Given the description of an element on the screen output the (x, y) to click on. 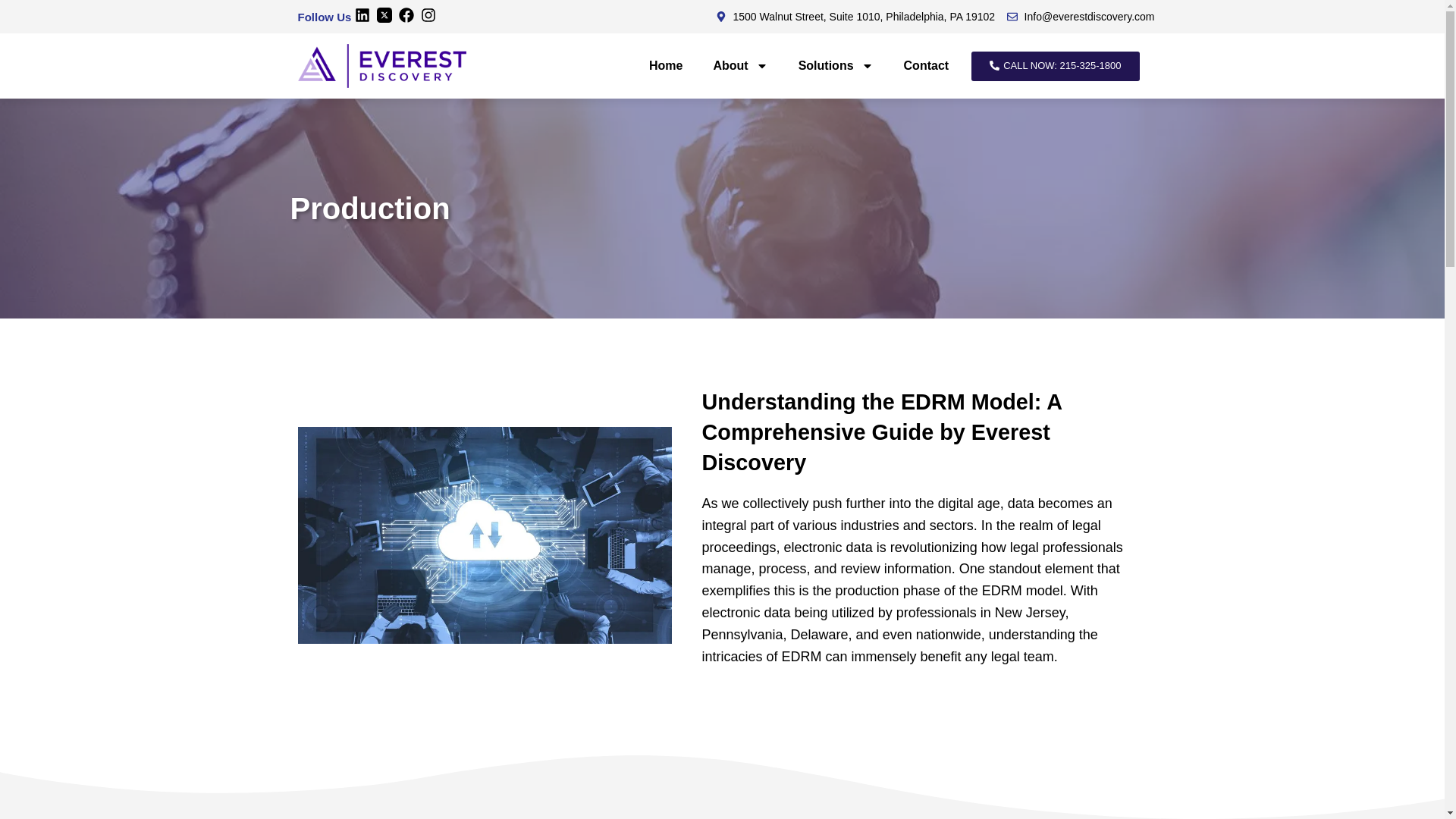
CALL NOW: 215-325-1800 (1054, 66)
Solutions (835, 65)
About (740, 65)
Home (665, 65)
